Given the description of an element on the screen output the (x, y) to click on. 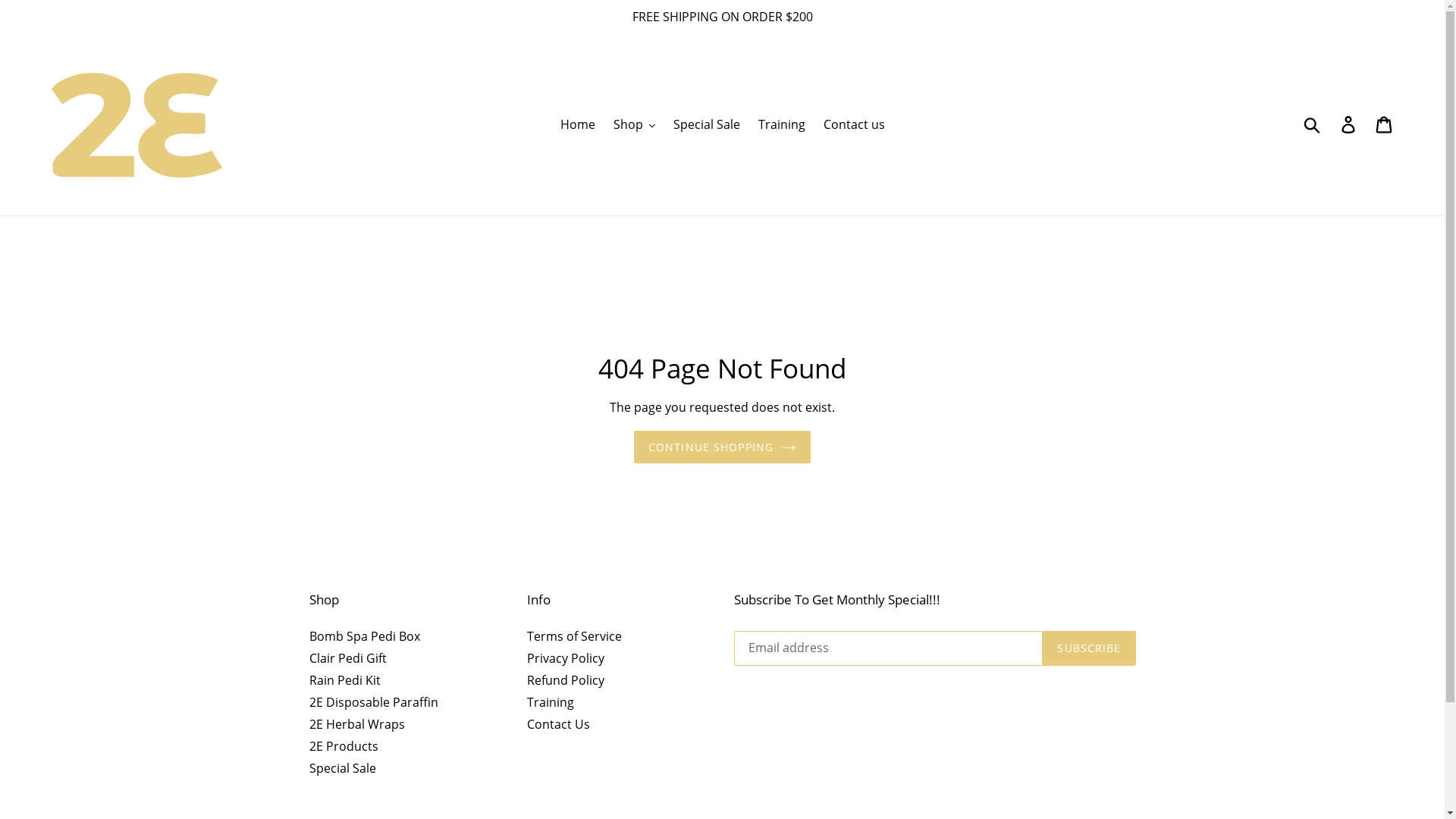
2E Products Element type: text (343, 745)
Refund Policy Element type: text (565, 679)
CONTINUE SHOPPING Element type: text (721, 446)
SUBSCRIBE Element type: text (1088, 647)
Training Element type: text (781, 123)
Training Element type: text (550, 701)
Submit Element type: text (1312, 124)
Terms of Service Element type: text (574, 635)
2E Herbal Wraps Element type: text (356, 723)
Privacy Policy Element type: text (565, 657)
Special Sale Element type: text (706, 123)
2E Disposable Paraffin Element type: text (373, 701)
Rain Pedi Kit Element type: text (344, 679)
Contact us Element type: text (853, 123)
Bomb Spa Pedi Box Element type: text (364, 635)
Home Element type: text (577, 123)
Special Sale Element type: text (342, 767)
Contact Us Element type: text (558, 723)
Clair Pedi Gift Element type: text (347, 657)
Cart Element type: text (1384, 123)
Log in Element type: text (1349, 123)
